Given the description of an element on the screen output the (x, y) to click on. 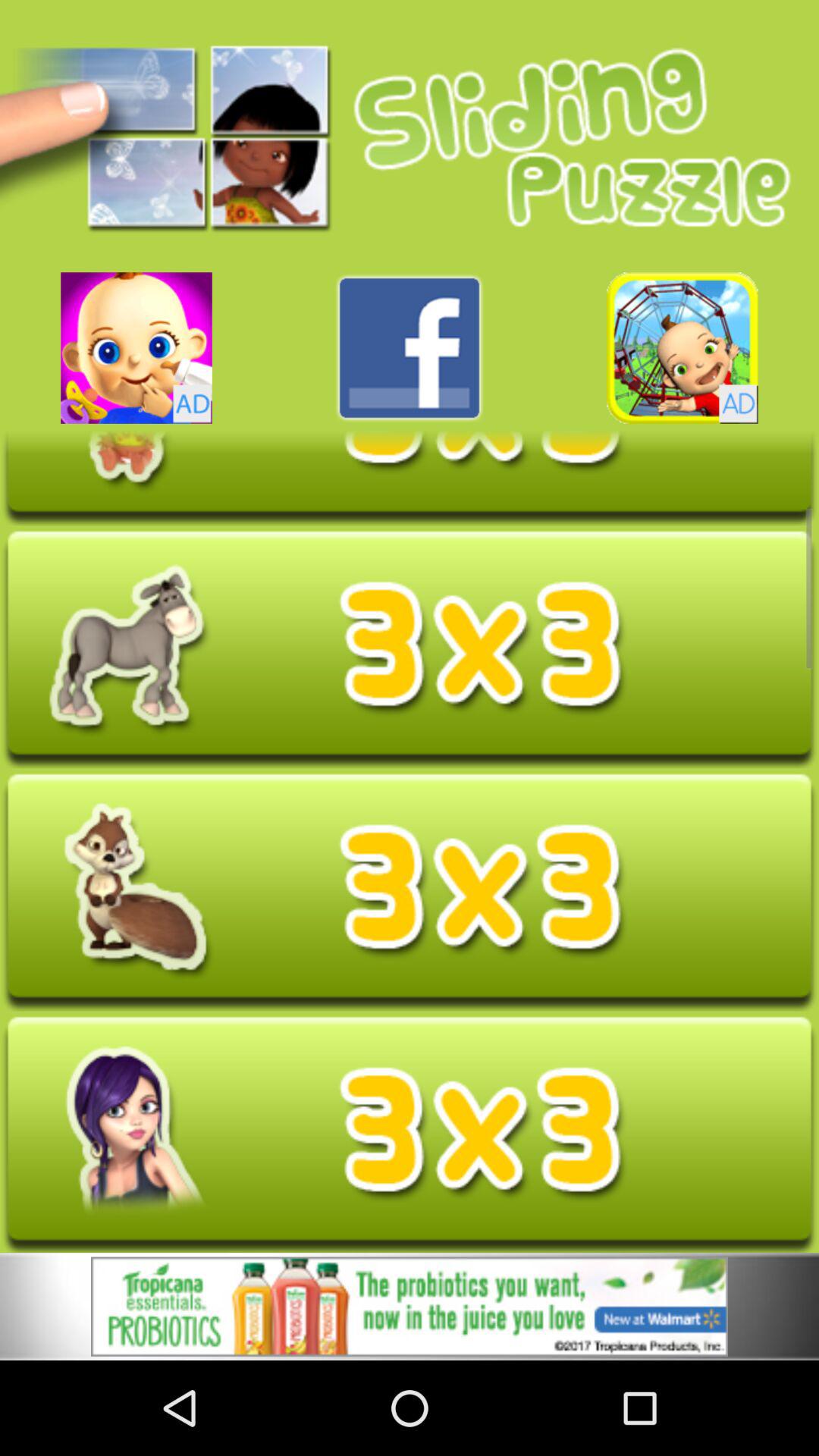
open the selected puzzle (409, 477)
